Given the description of an element on the screen output the (x, y) to click on. 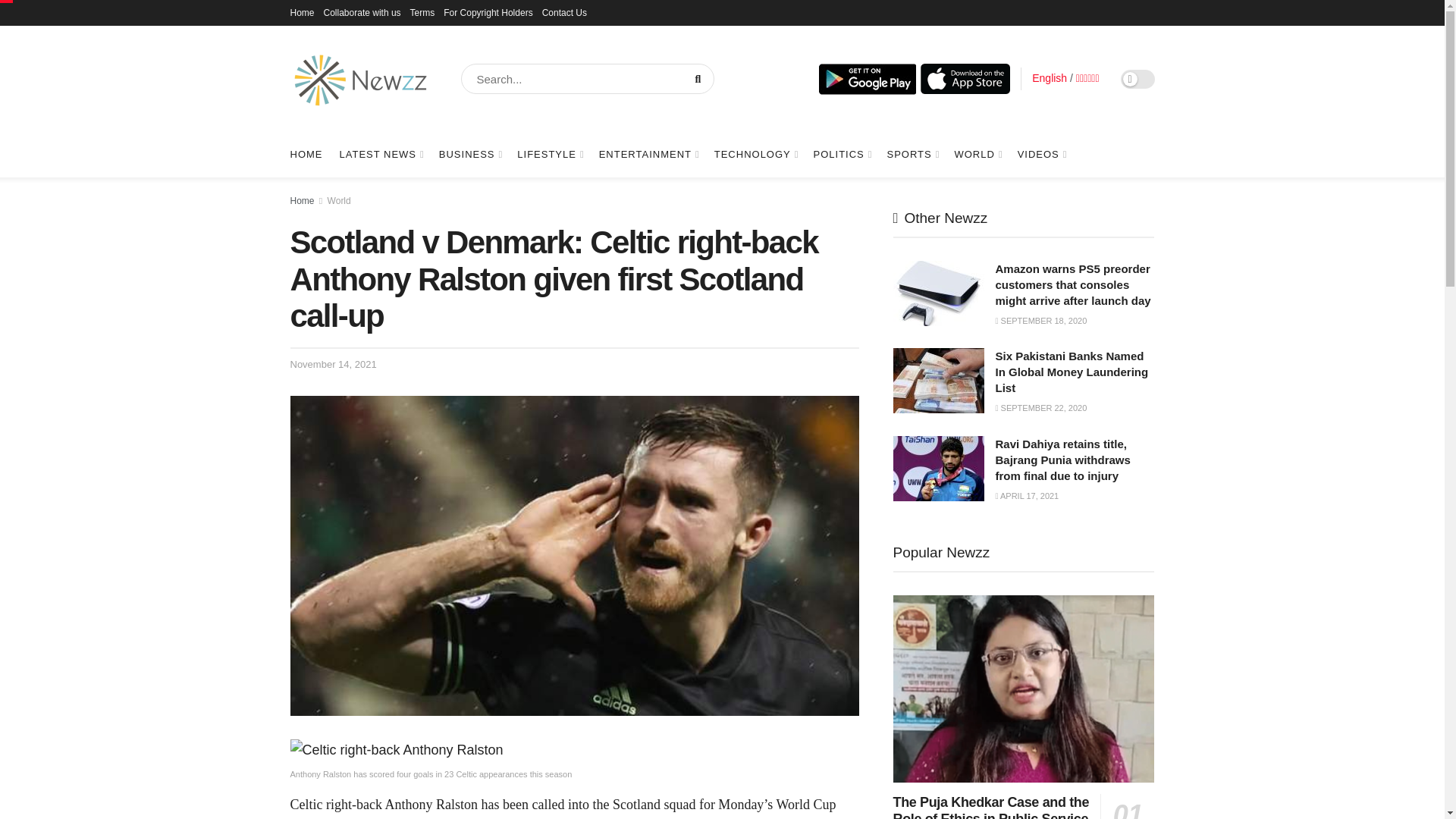
WORLD (976, 154)
Contact Us (563, 12)
POLITICS (841, 154)
English (1049, 78)
LATEST NEWS (380, 154)
ENTERTAINMENT (647, 154)
Terms (422, 12)
LIFESTYLE (548, 154)
TECHNOLOGY (755, 154)
BUSINESS (469, 154)
Home (301, 12)
Collaborate with us (362, 12)
VIDEOS (1041, 154)
SPORTS (911, 154)
For Copyright Holders (488, 12)
